Given the description of an element on the screen output the (x, y) to click on. 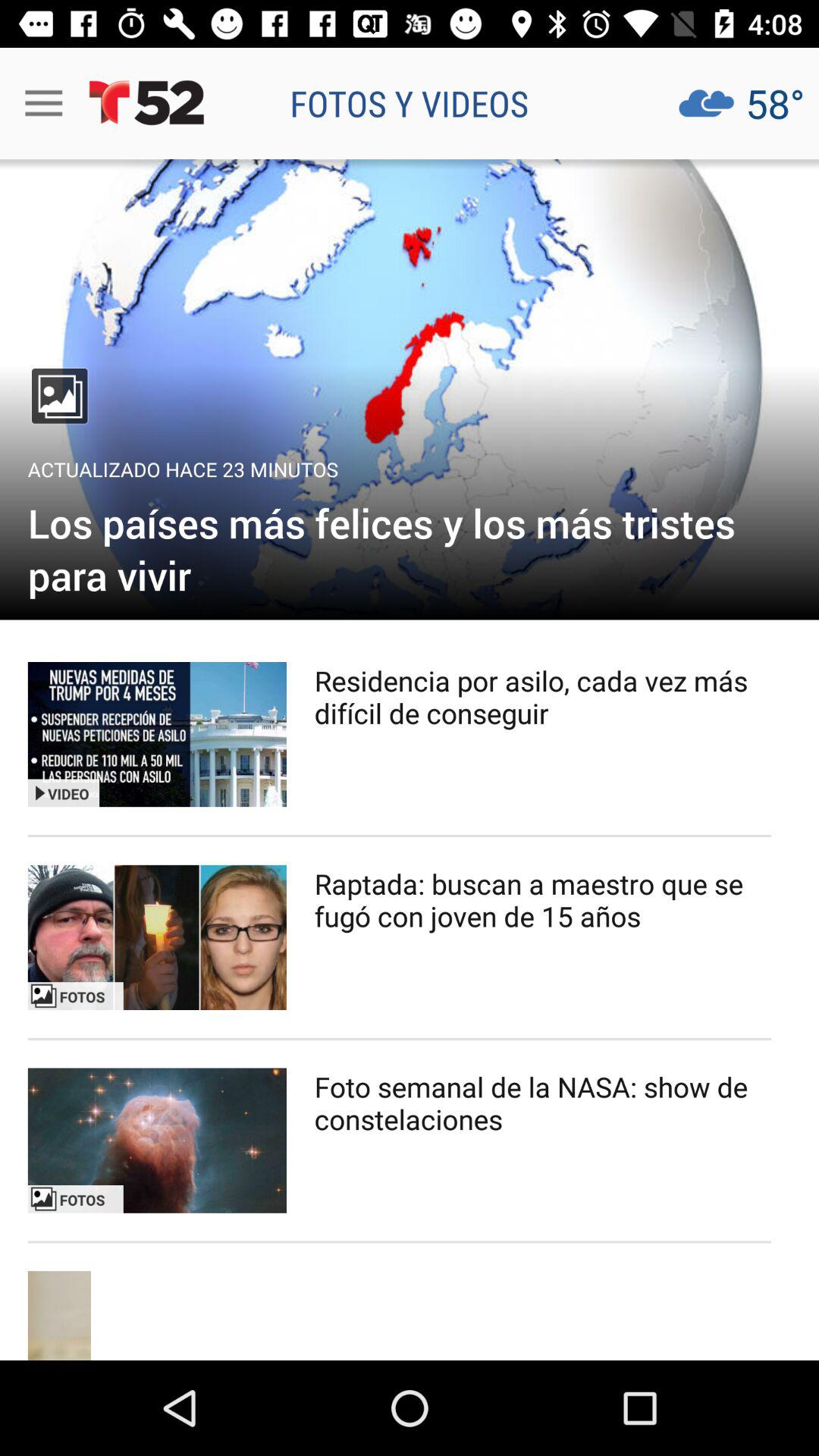
view photo (156, 1140)
